Given the description of an element on the screen output the (x, y) to click on. 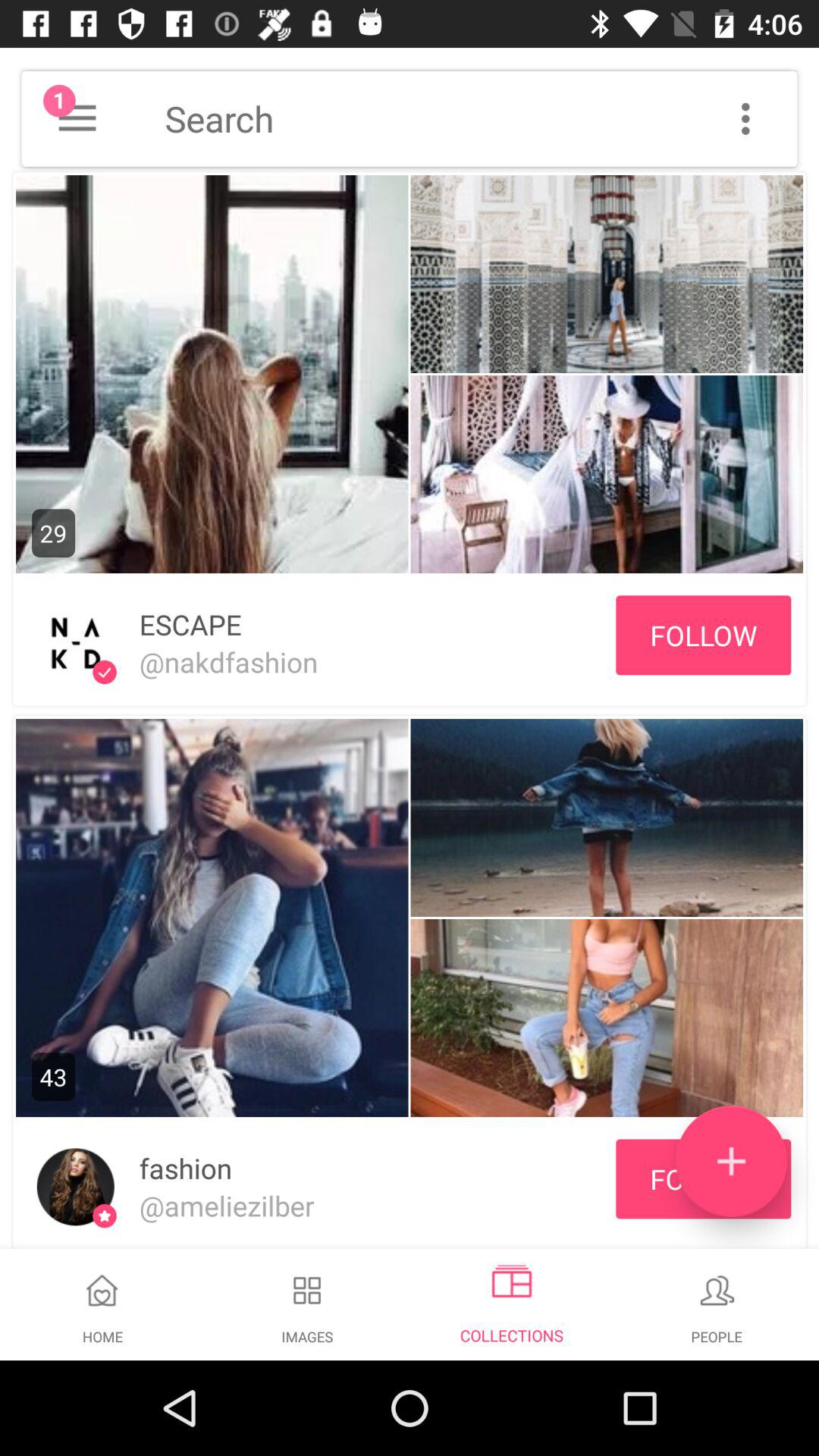
click icon to the right of fashion item (731, 1161)
